Given the description of an element on the screen output the (x, y) to click on. 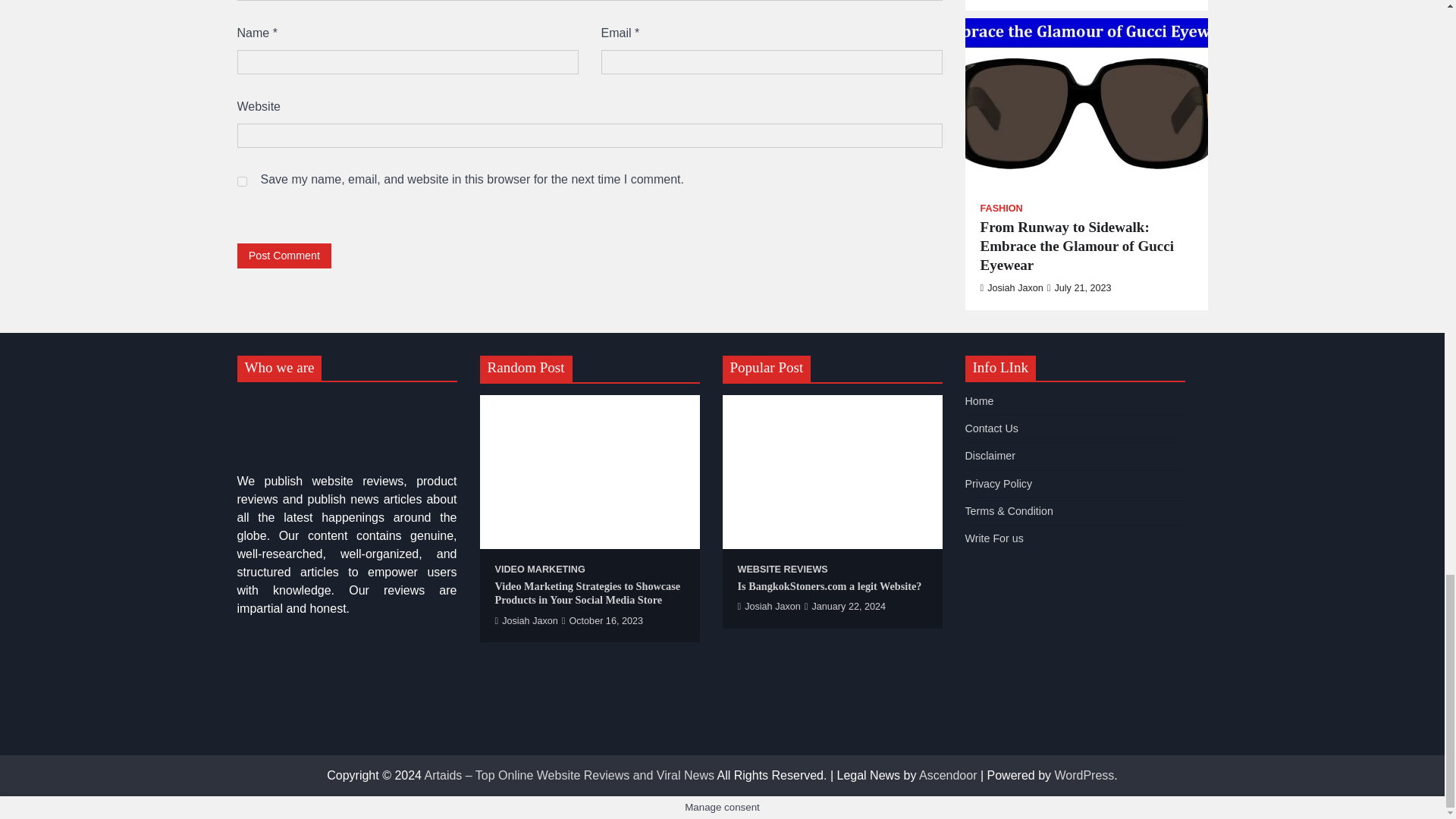
yes (240, 181)
Post Comment (283, 255)
Post Comment (283, 255)
DMCA.com Protection Status (346, 727)
